Given the description of an element on the screen output the (x, y) to click on. 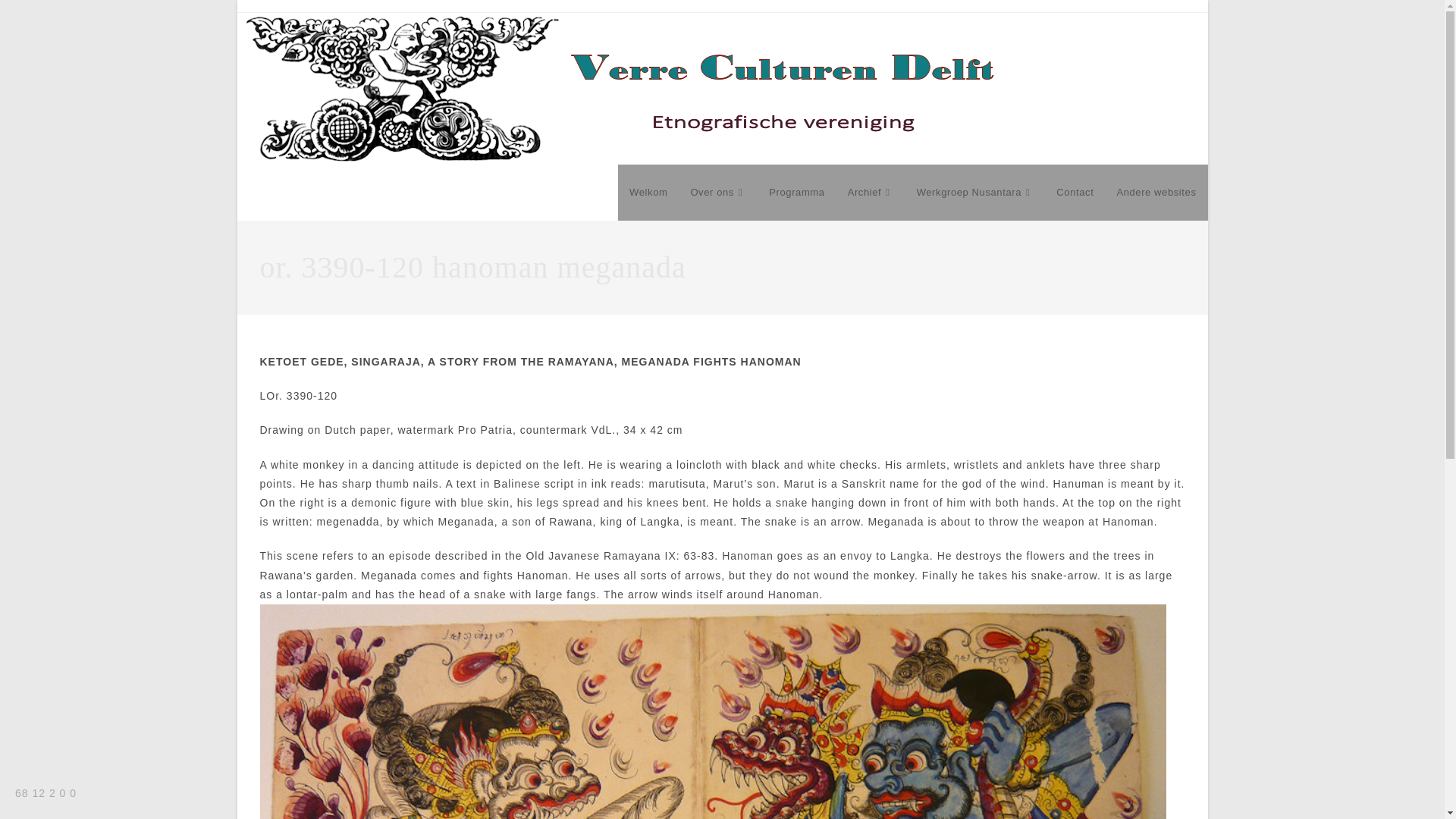
Contact (1075, 192)
Welkom (647, 192)
Archief (870, 192)
Over ons (717, 192)
Andere websites (1156, 192)
Werkgroep Nusantara (975, 192)
Programma (796, 192)
